Given the description of an element on the screen output the (x, y) to click on. 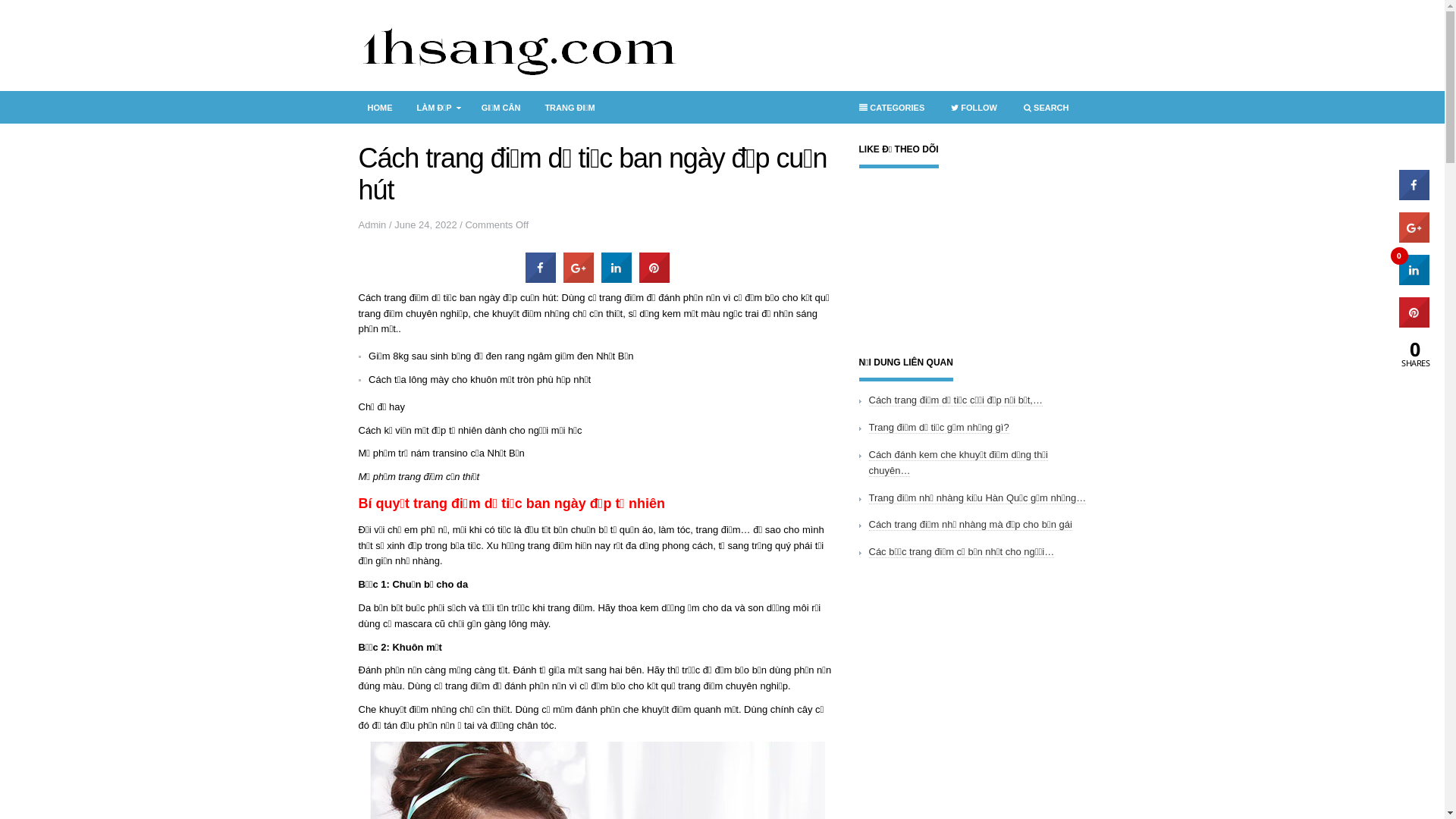
Share to Facebook Element type: hover (1414, 195)
HOME Element type: text (379, 107)
Admin Element type: text (371, 224)
Share to Facebook Element type: hover (539, 277)
Share to LinkedIn Element type: hover (615, 277)
Share to Google Plus Element type: hover (1414, 237)
Share to Google Plus Element type: hover (577, 277)
Share to Pinterest Element type: hover (1414, 322)
Share to Pinterest Element type: hover (653, 277)
Share to LinkedIn Element type: hover (1414, 280)
